Given the description of an element on the screen output the (x, y) to click on. 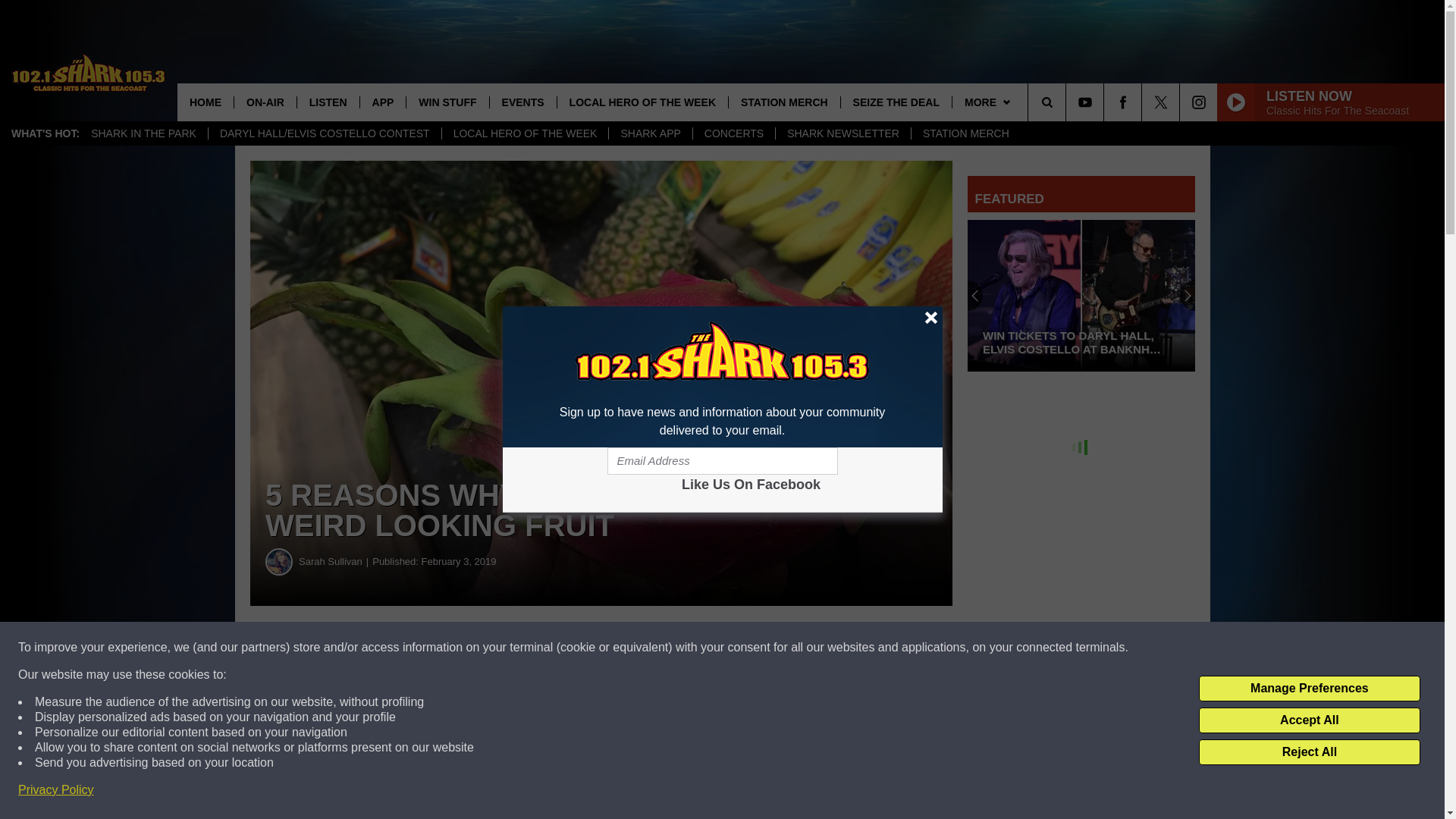
Reject All (1309, 751)
LOCAL HERO OF THE WEEK (524, 133)
ON-AIR (264, 102)
SHARK NEWSLETTER (842, 133)
Share on Facebook (460, 647)
SHARK APP (649, 133)
SEARCH (1068, 102)
HOME (204, 102)
LISTEN (328, 102)
Share on Twitter (741, 647)
STATION MERCH (965, 133)
LOCAL HERO OF THE WEEK (642, 102)
SEARCH (1068, 102)
EVENTS (522, 102)
Manage Preferences (1309, 688)
